Given the description of an element on the screen output the (x, y) to click on. 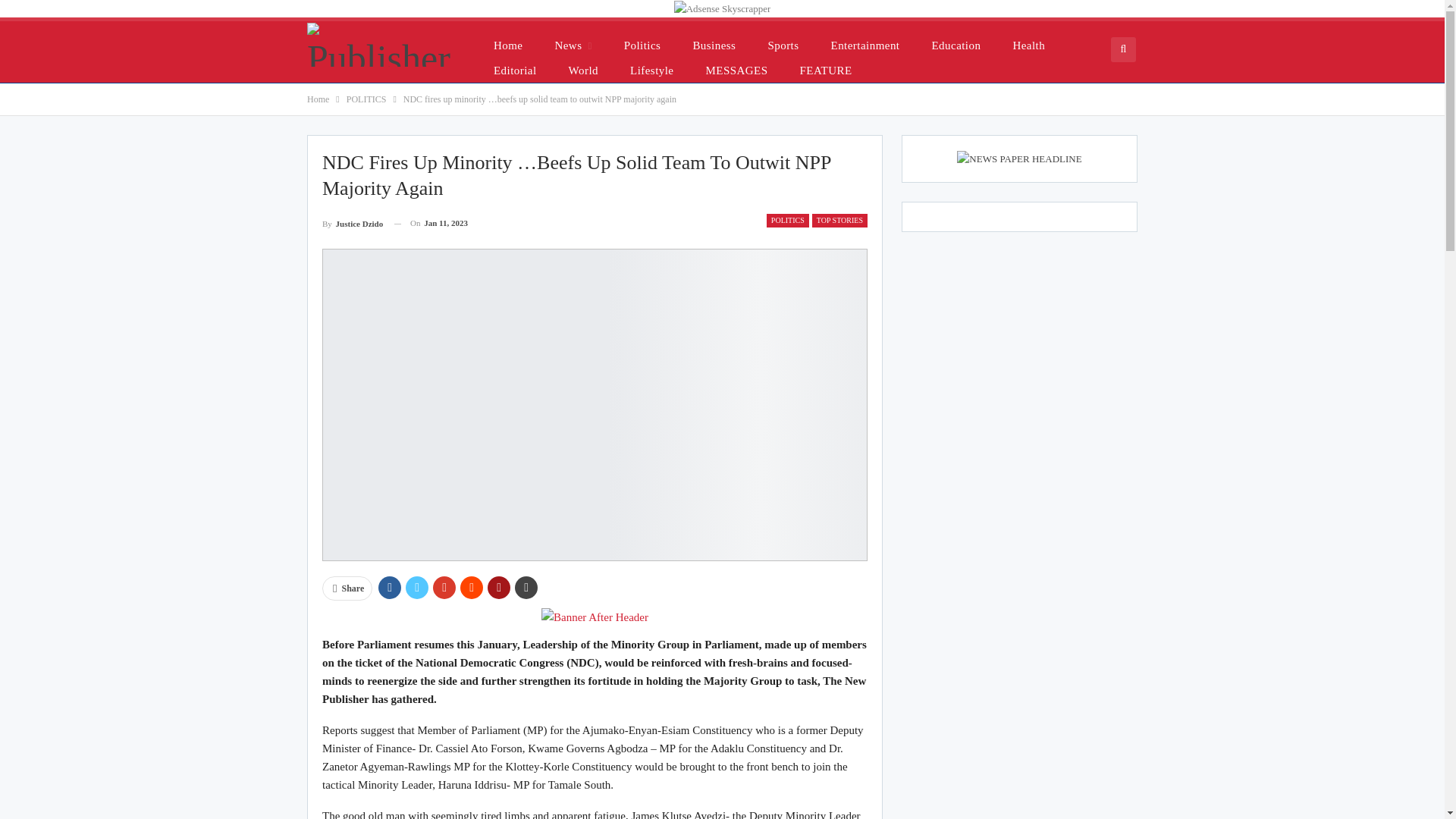
Politics (641, 44)
TOP STORIES (839, 220)
MESSAGES (735, 69)
Health (1028, 44)
FEATURE (825, 69)
Lifestyle (651, 69)
News (572, 44)
POLITICS (788, 220)
Entertainment (865, 44)
Education (955, 44)
World (583, 69)
By Justice Dzido (351, 222)
Sports (782, 44)
POLITICS (366, 98)
Home (318, 98)
